Given the description of an element on the screen output the (x, y) to click on. 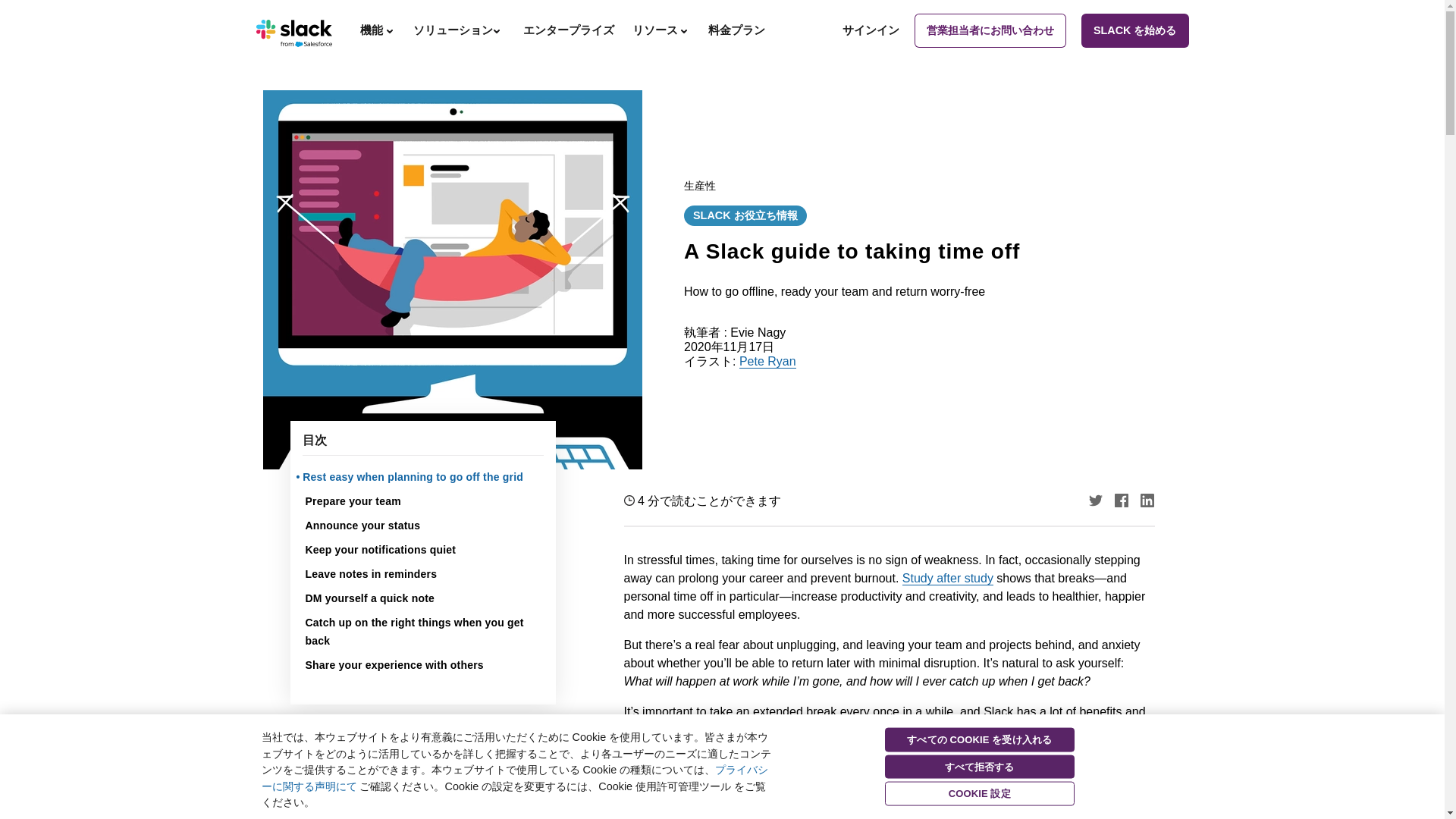
LinkedIn (1147, 499)
Twitter (1095, 499)
Facebook (1121, 499)
